Given the description of an element on the screen output the (x, y) to click on. 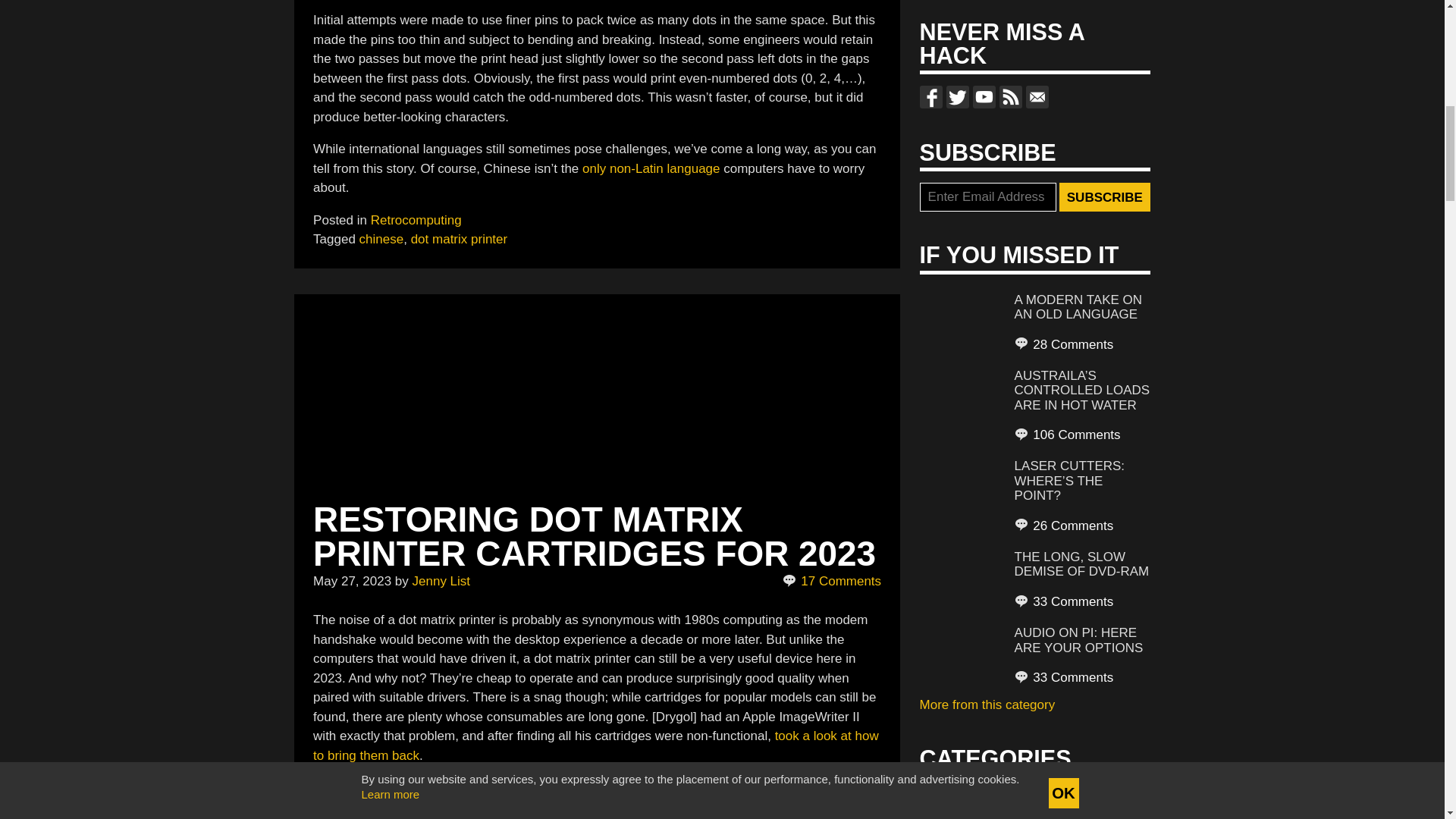
Jenny List (441, 581)
only non-Latin language (650, 167)
dot matrix printer (459, 238)
took a look at how to bring them back (596, 745)
Posts by Jenny List (441, 581)
May 27, 2023 - 1:00 am (352, 581)
Retrocomputing (416, 219)
17 Comments (832, 581)
Subscribe (1104, 196)
chinese (381, 238)
